Given the description of an element on the screen output the (x, y) to click on. 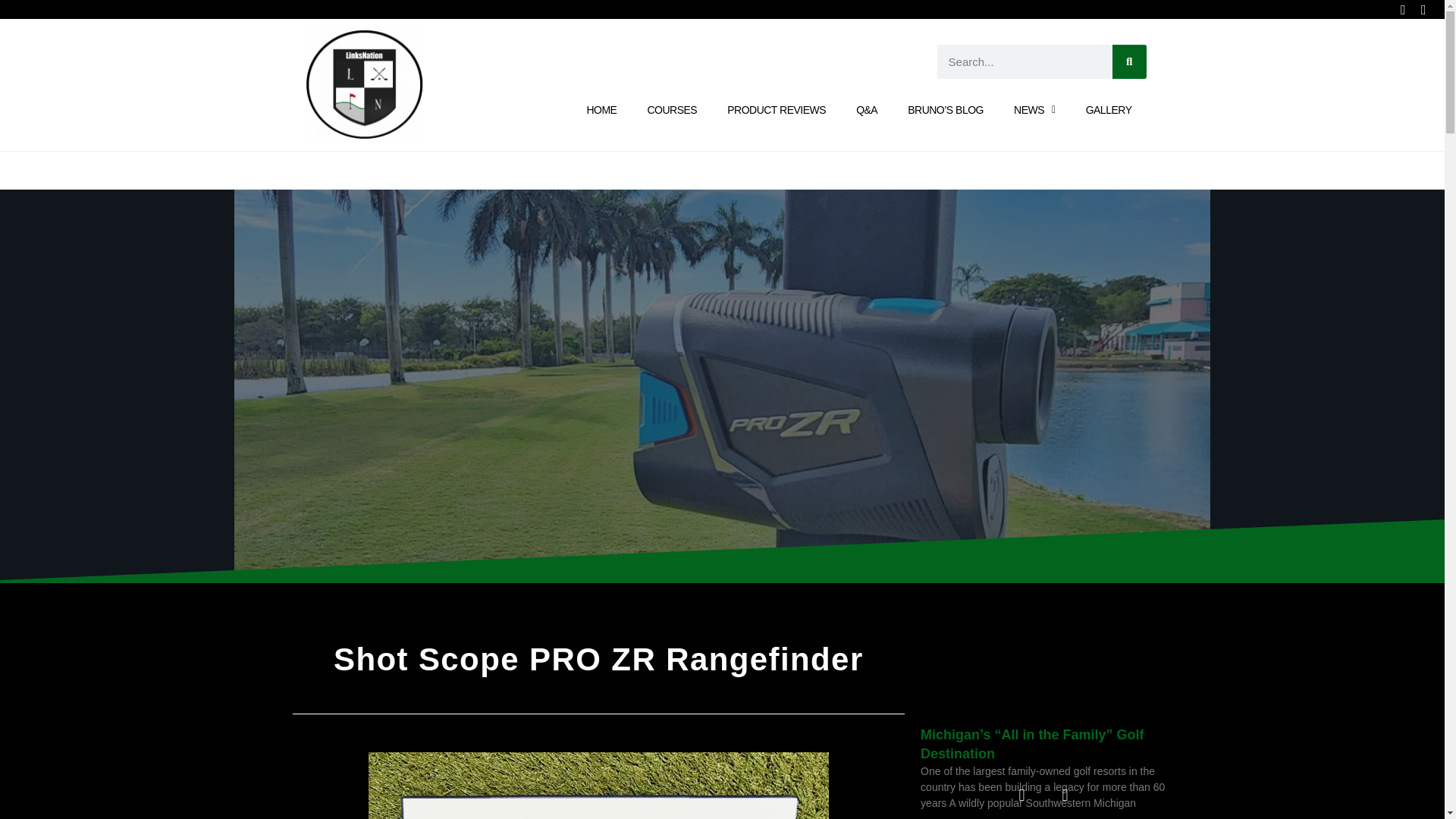
PRODUCT REVIEWS (776, 110)
NEWS (1034, 110)
HOME (600, 110)
COURSES (671, 110)
GALLERY (1108, 110)
